Given the description of an element on the screen output the (x, y) to click on. 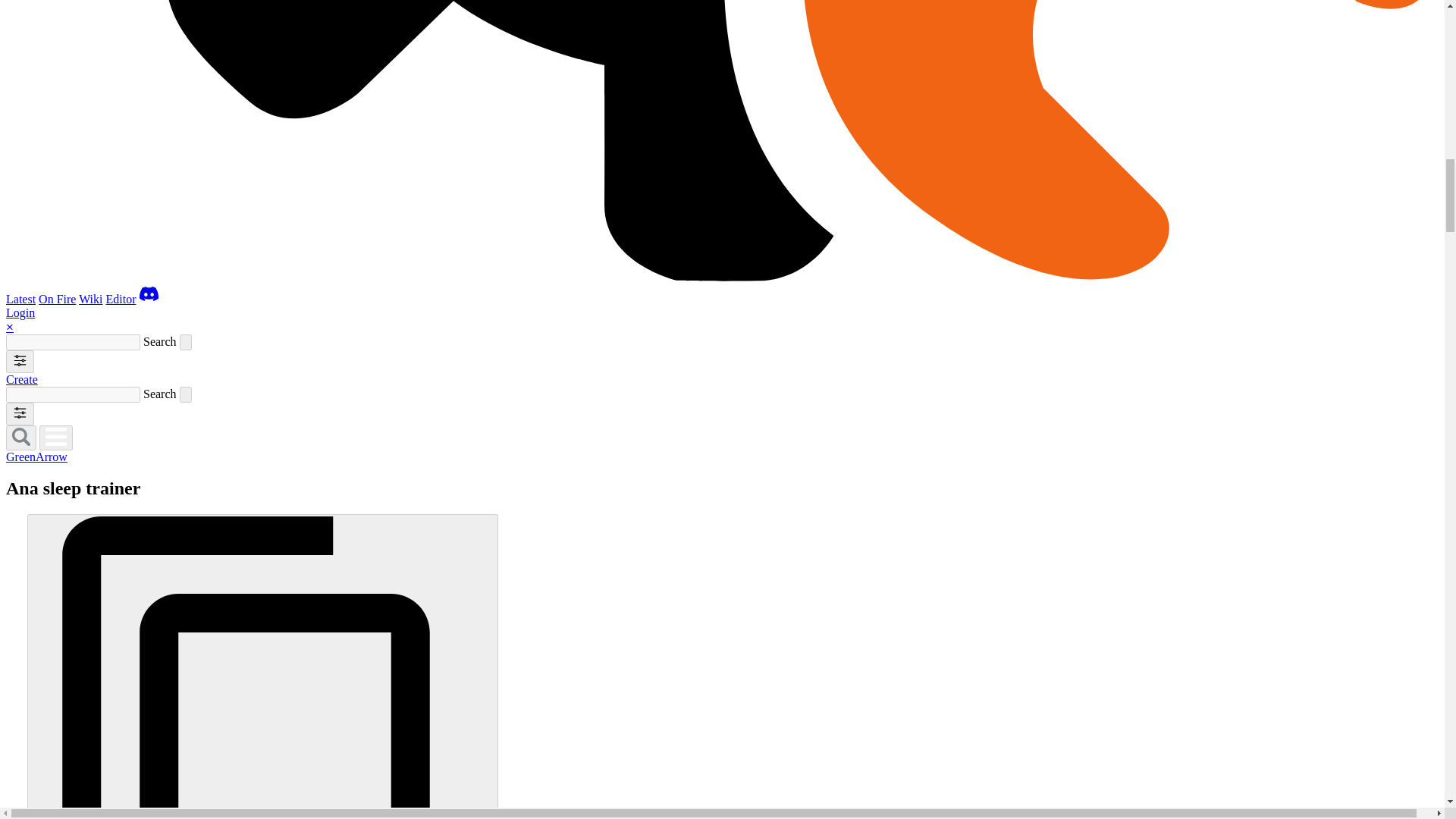
Latest (19, 298)
Editor (121, 298)
Wiki (89, 298)
On Fire (57, 298)
Create (21, 379)
Login (19, 312)
